Given the description of an element on the screen output the (x, y) to click on. 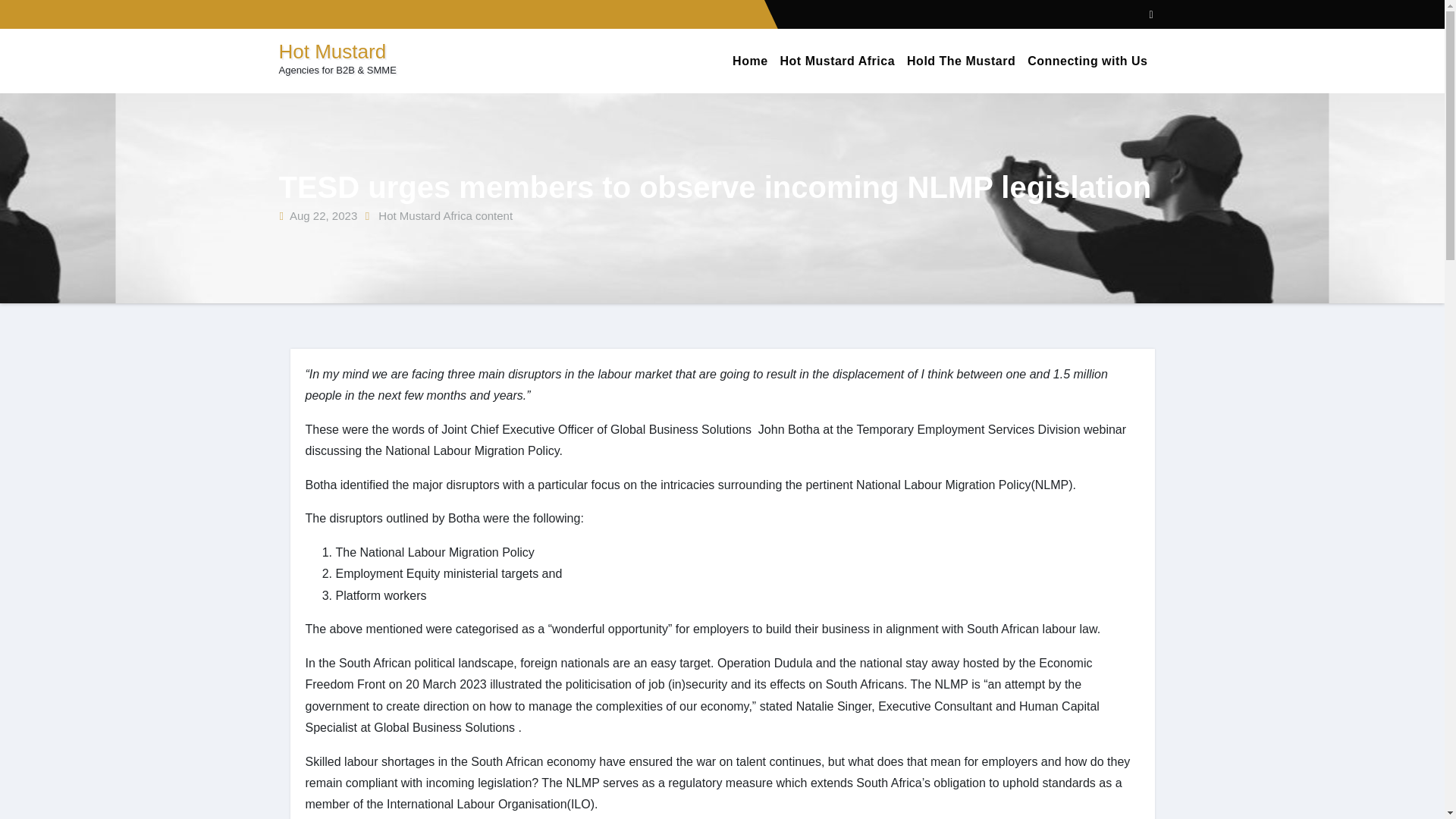
Home (749, 61)
Hold The Mustard (961, 61)
Hot Mustard Africa (837, 61)
Home (749, 61)
Hot Mustard (333, 51)
Connecting with Us (1087, 61)
Hold The Mustard (961, 61)
Hot Mustard Africa content (445, 215)
Hot Mustard Africa (837, 61)
Connecting with Us (1087, 61)
